Given the description of an element on the screen output the (x, y) to click on. 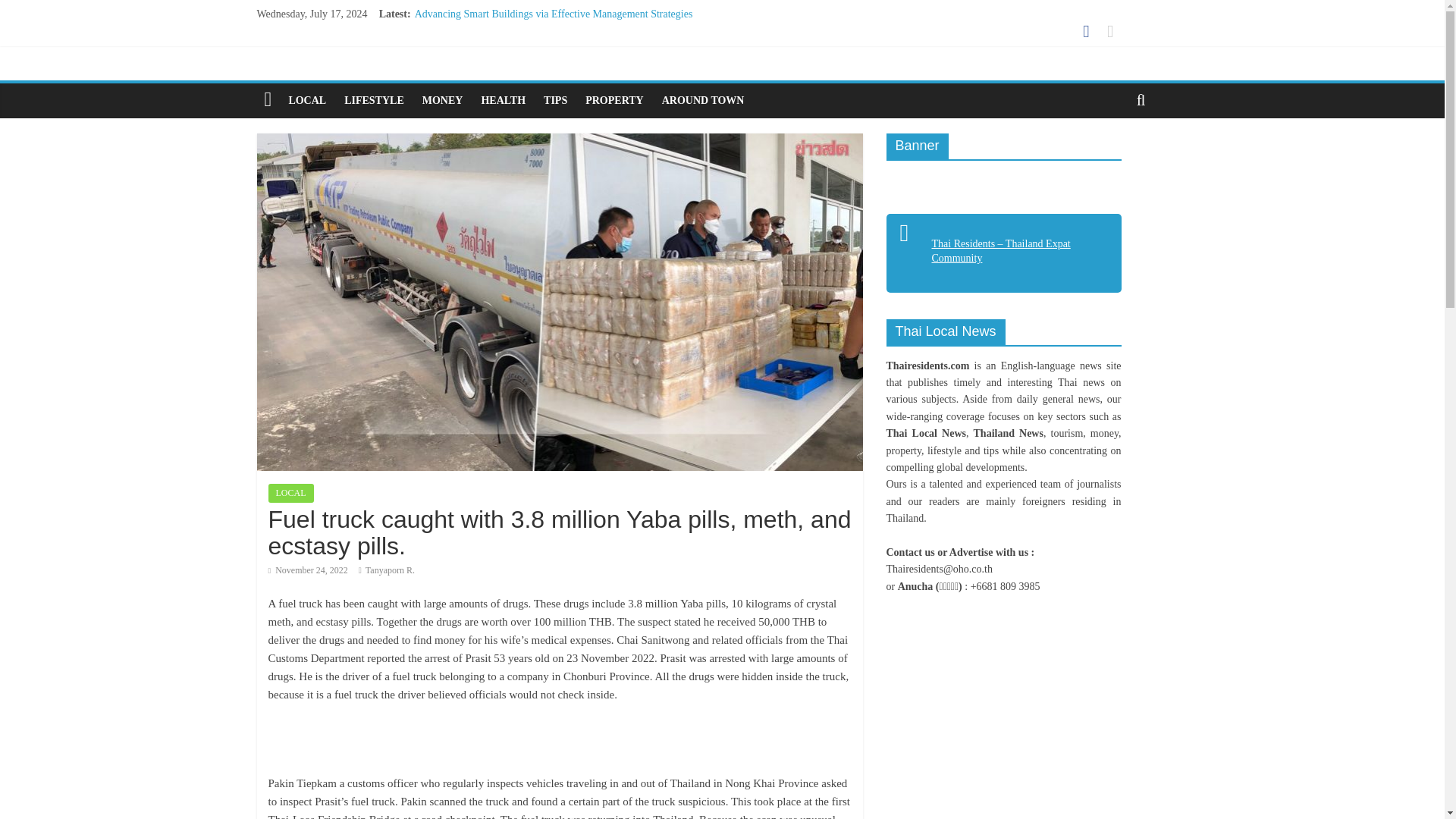
HEALTH (502, 100)
AROUND TOWN (703, 100)
Tanyaporn R. (389, 570)
LIFESTYLE (373, 100)
Tanyaporn R. (389, 570)
TIPS (555, 100)
PROPERTY (614, 100)
November 24, 2022 (307, 570)
LOCAL (290, 493)
7:51 am (307, 570)
LOCAL (306, 100)
MONEY (442, 100)
